Given the description of an element on the screen output the (x, y) to click on. 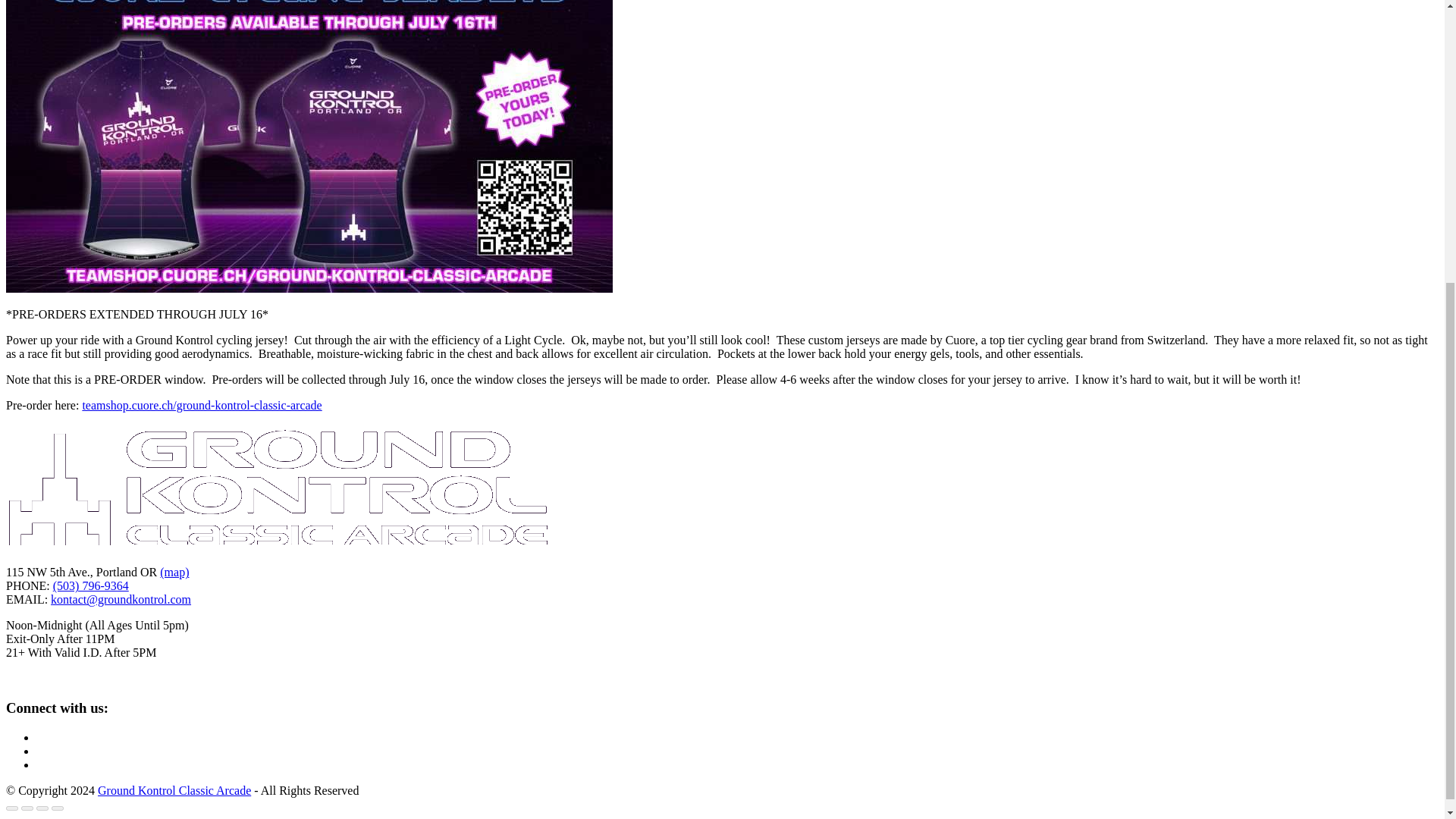
Toggle fullscreen (42, 807)
Share (27, 807)
Ground Kontrol Classic Arcade (173, 789)
